Given the description of an element on the screen output the (x, y) to click on. 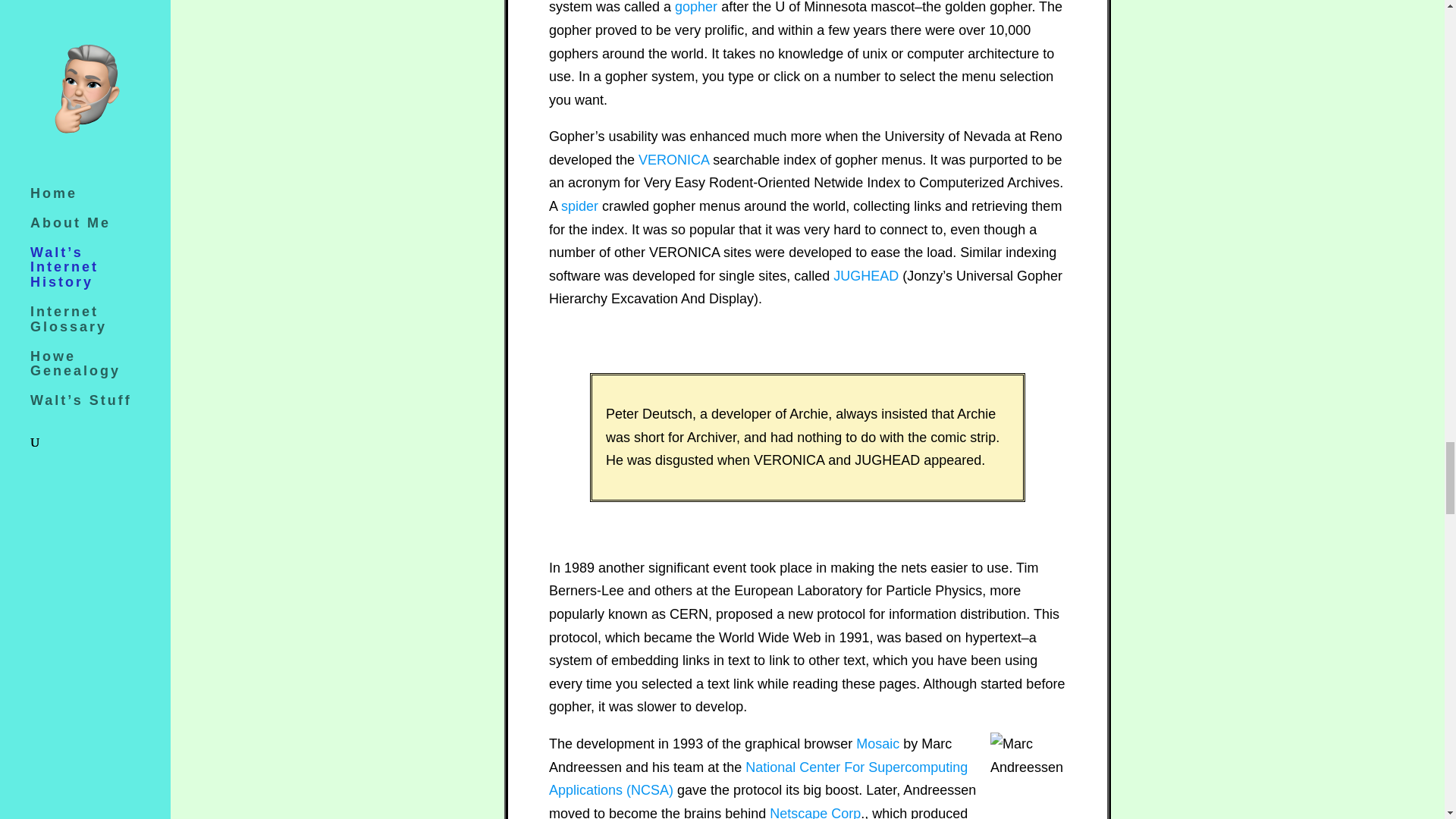
spider (579, 206)
gopher (696, 7)
JUGHEAD (865, 275)
VERONICA (674, 159)
